Given the description of an element on the screen output the (x, y) to click on. 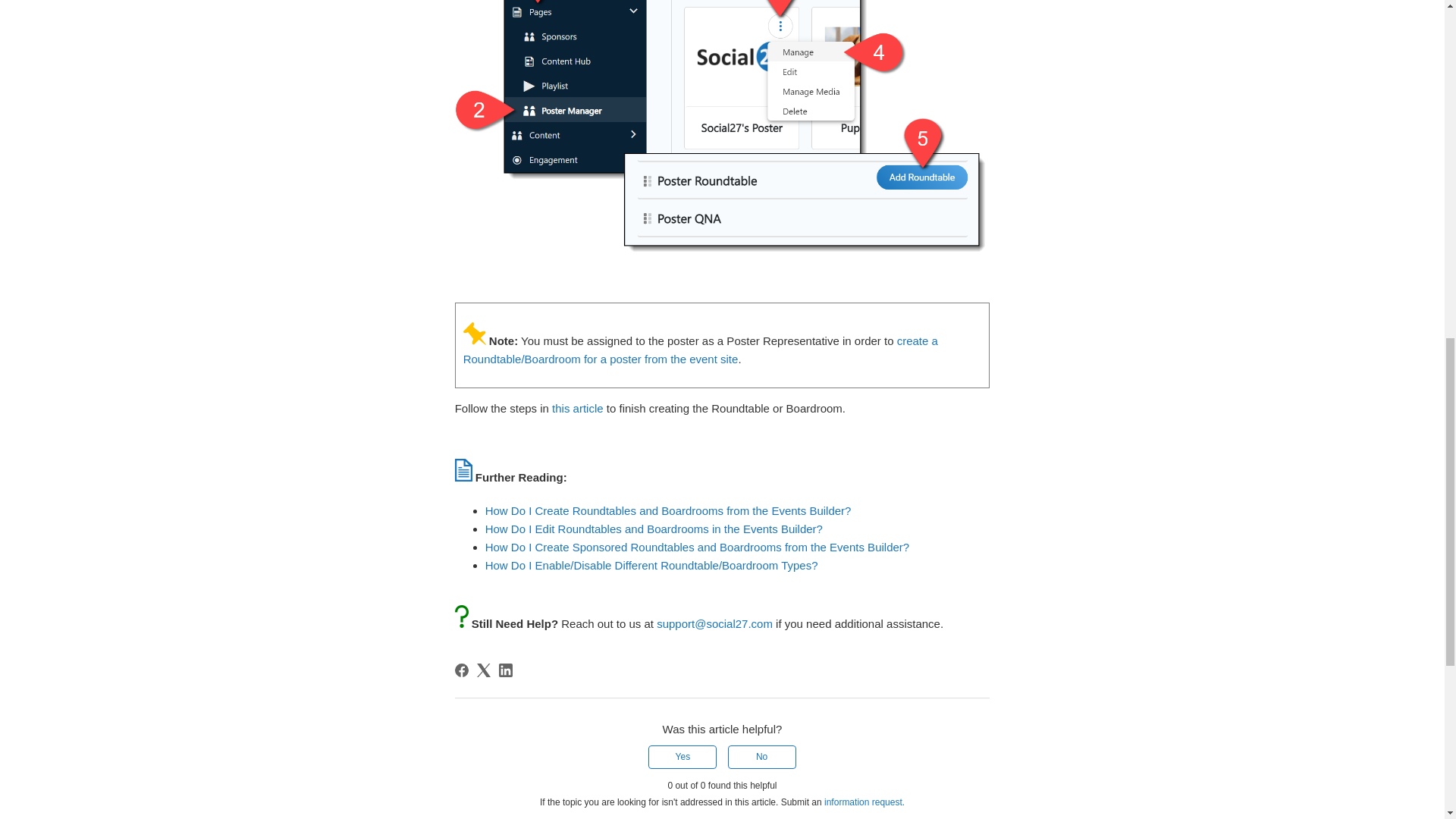
Yes (681, 756)
this article (577, 408)
information request. (864, 801)
No (762, 756)
